Given the description of an element on the screen output the (x, y) to click on. 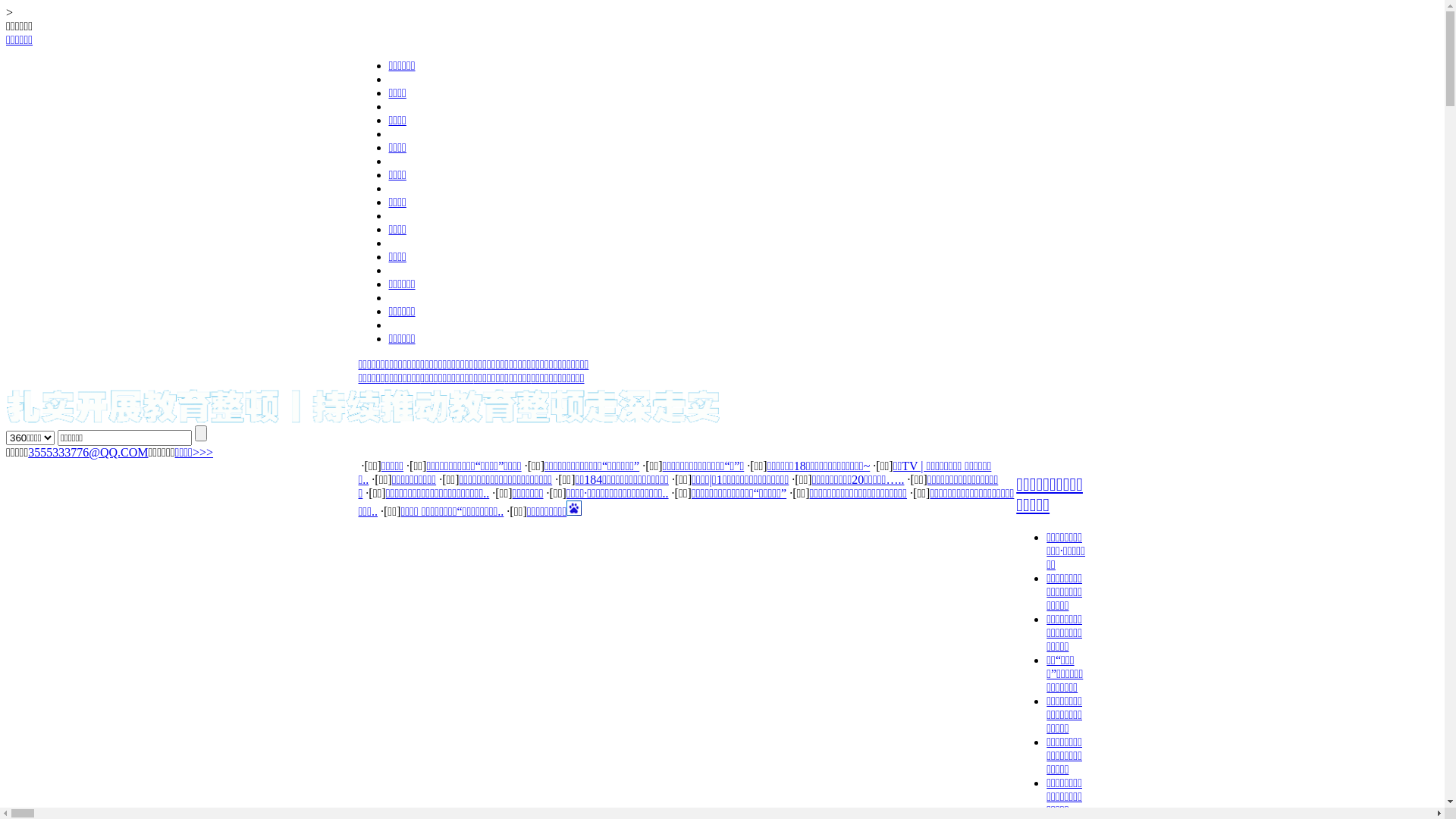
3555333776@QQ.COM Element type: text (87, 451)
